Given the description of an element on the screen output the (x, y) to click on. 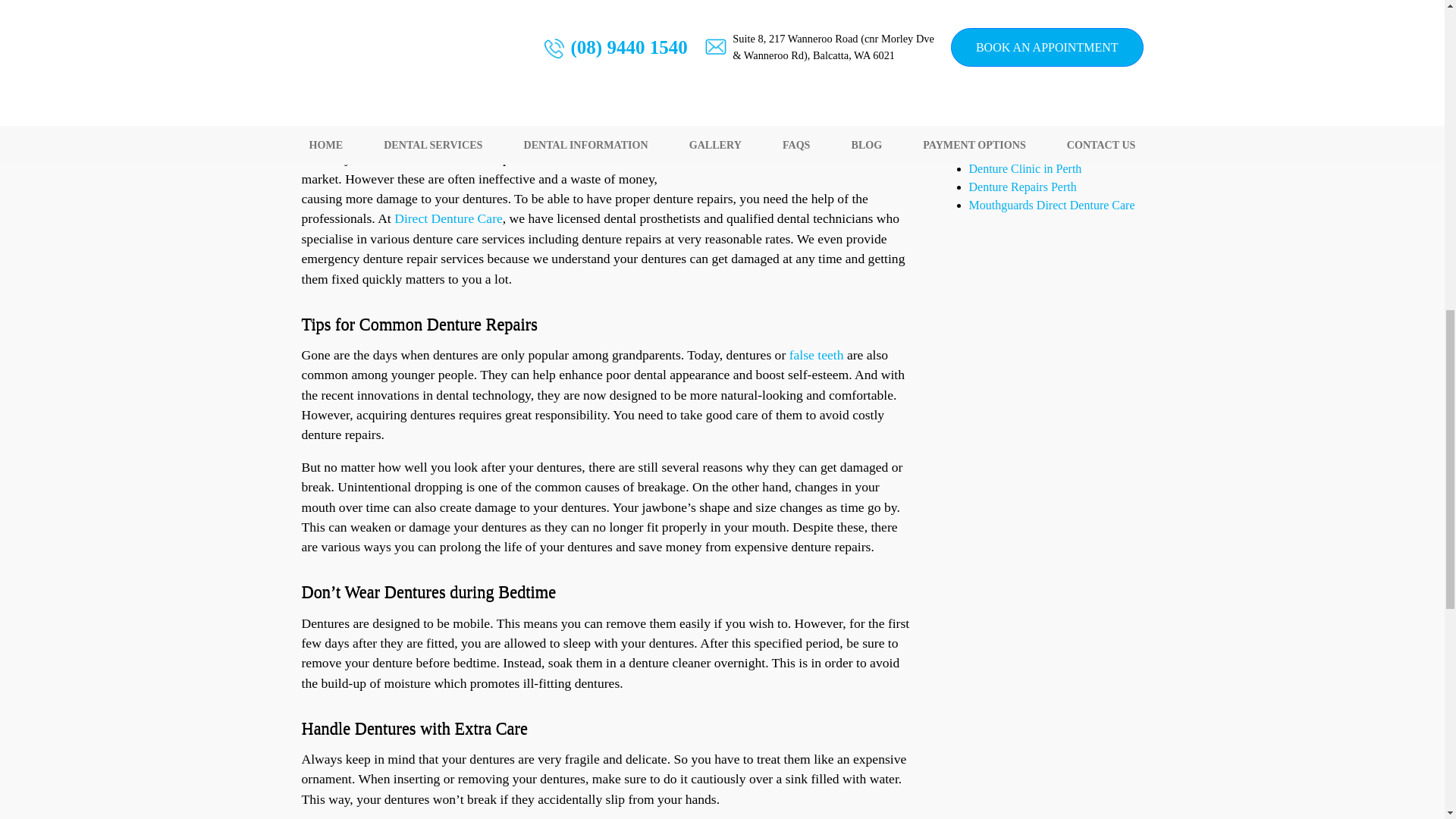
Direct Denture Care (448, 218)
false teeth (816, 354)
replacement (333, 46)
taking care of your dentures (545, 6)
